Given the description of an element on the screen output the (x, y) to click on. 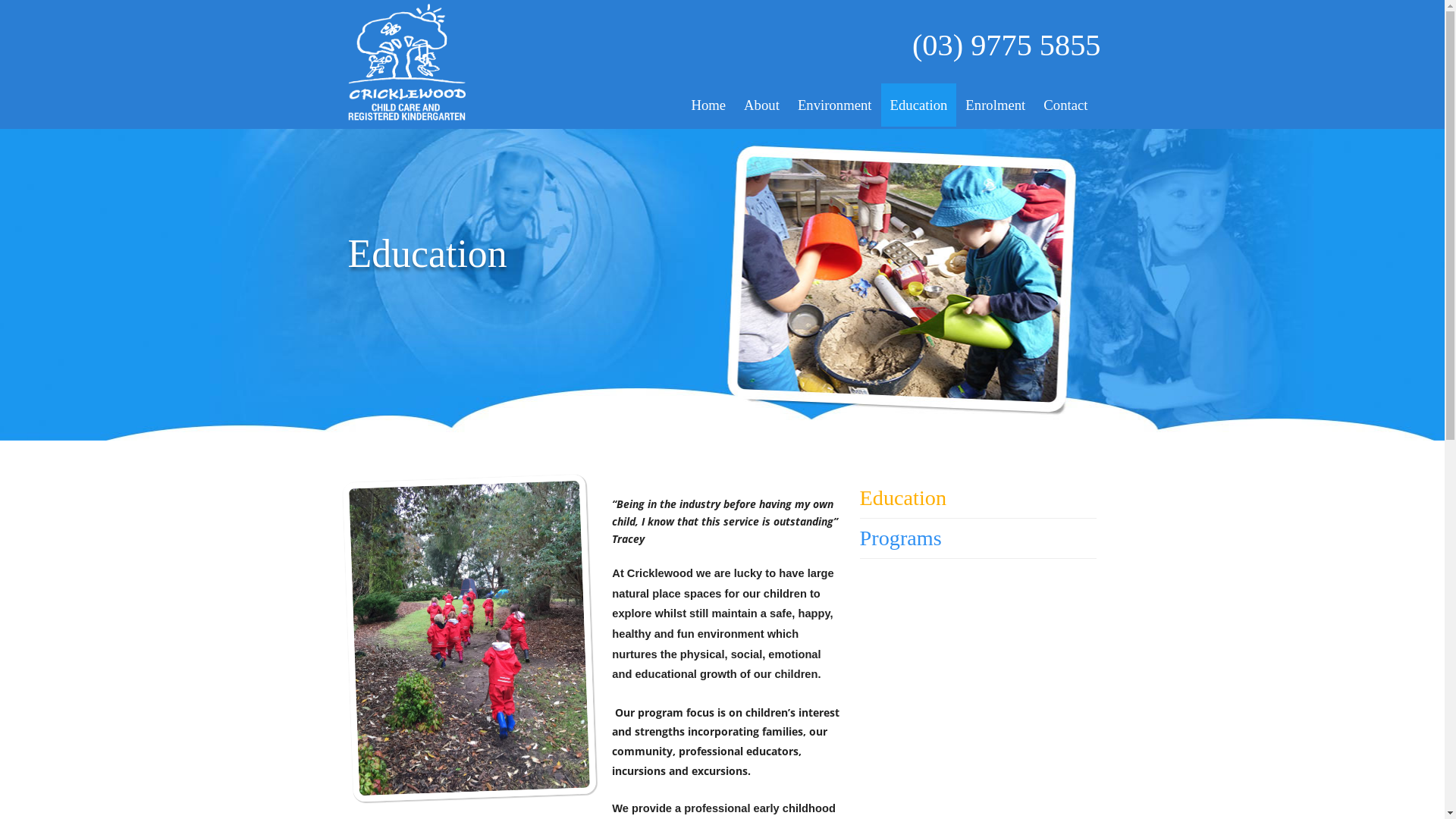
Skip to content Element type: text (733, 104)
Education Element type: text (978, 497)
Cricklewood Childcare Element type: hover (405, 61)
Education Element type: text (919, 104)
Home Element type: text (707, 104)
About Element type: text (761, 104)
Programs Element type: text (978, 538)
Enrolment Element type: text (995, 104)
Contact Element type: text (1065, 104)
Environment Element type: text (834, 104)
